Given the description of an element on the screen output the (x, y) to click on. 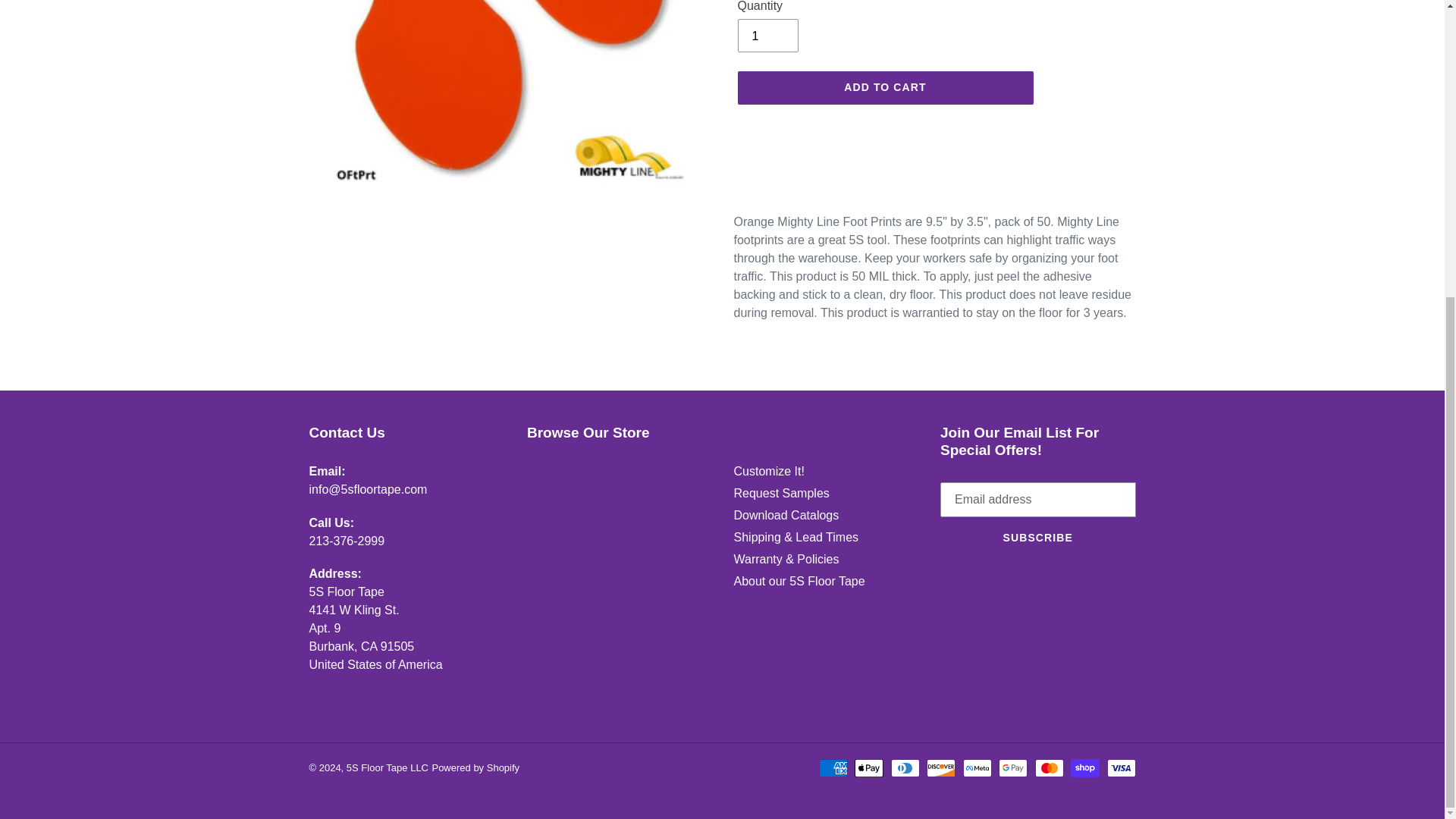
1 (766, 35)
